Given the description of an element on the screen output the (x, y) to click on. 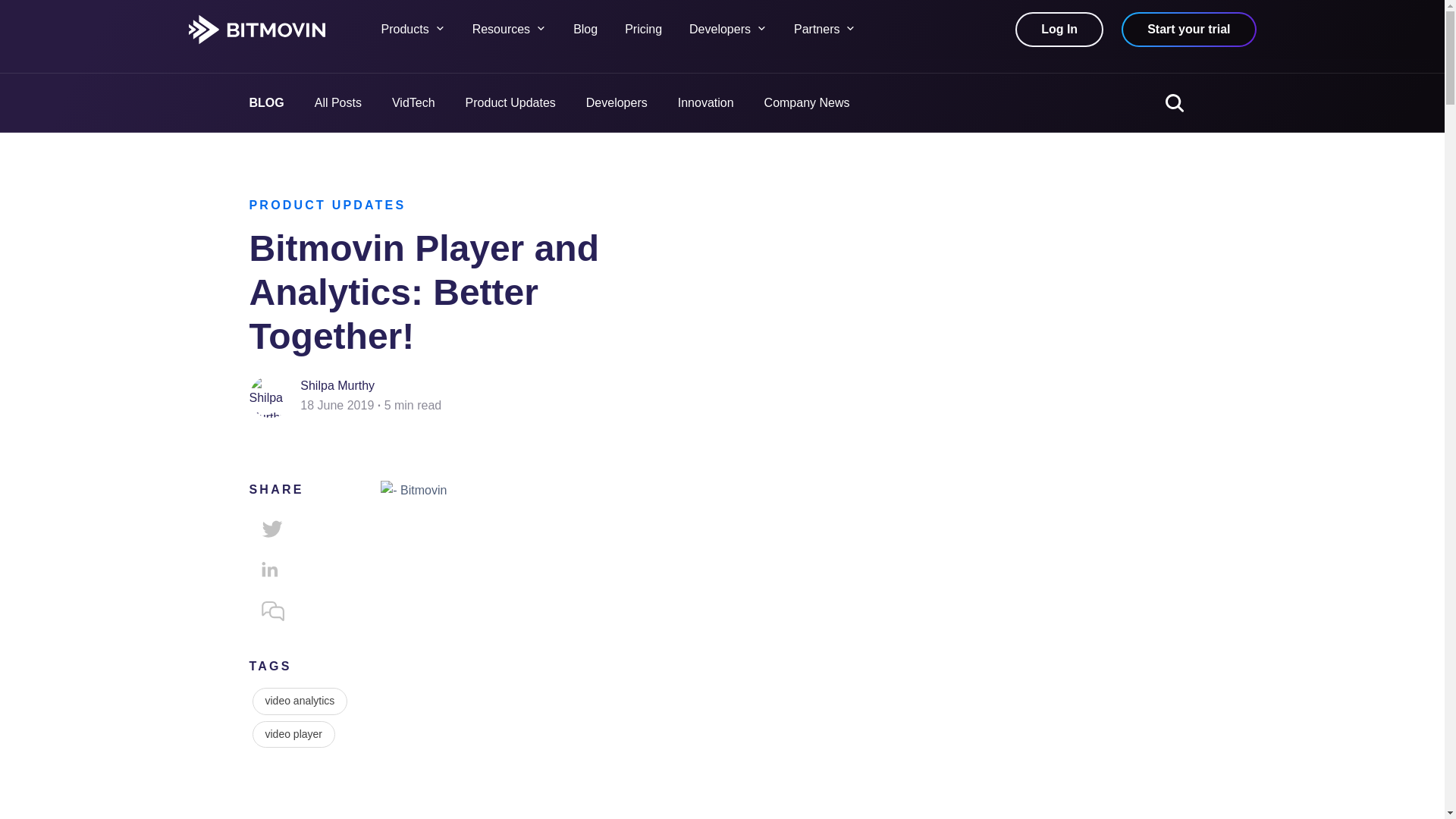
Shilpa Murthy (336, 385)
video analytics (299, 700)
video player (292, 734)
Products (425, 29)
